Given the description of an element on the screen output the (x, y) to click on. 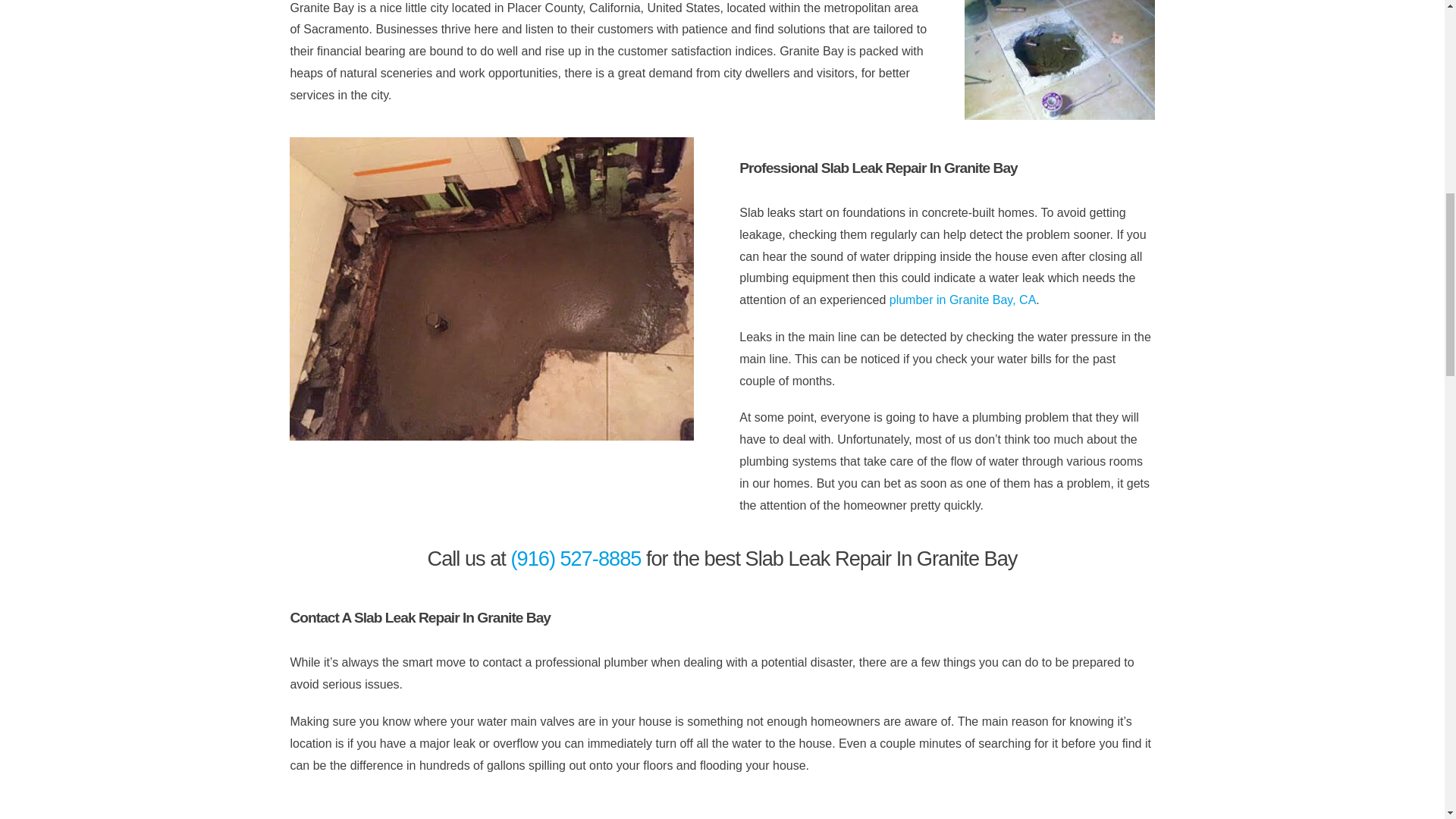
Slab-Leak-Repair2 (491, 288)
Slab-Leak-Repair3 (1058, 60)
